Given the description of an element on the screen output the (x, y) to click on. 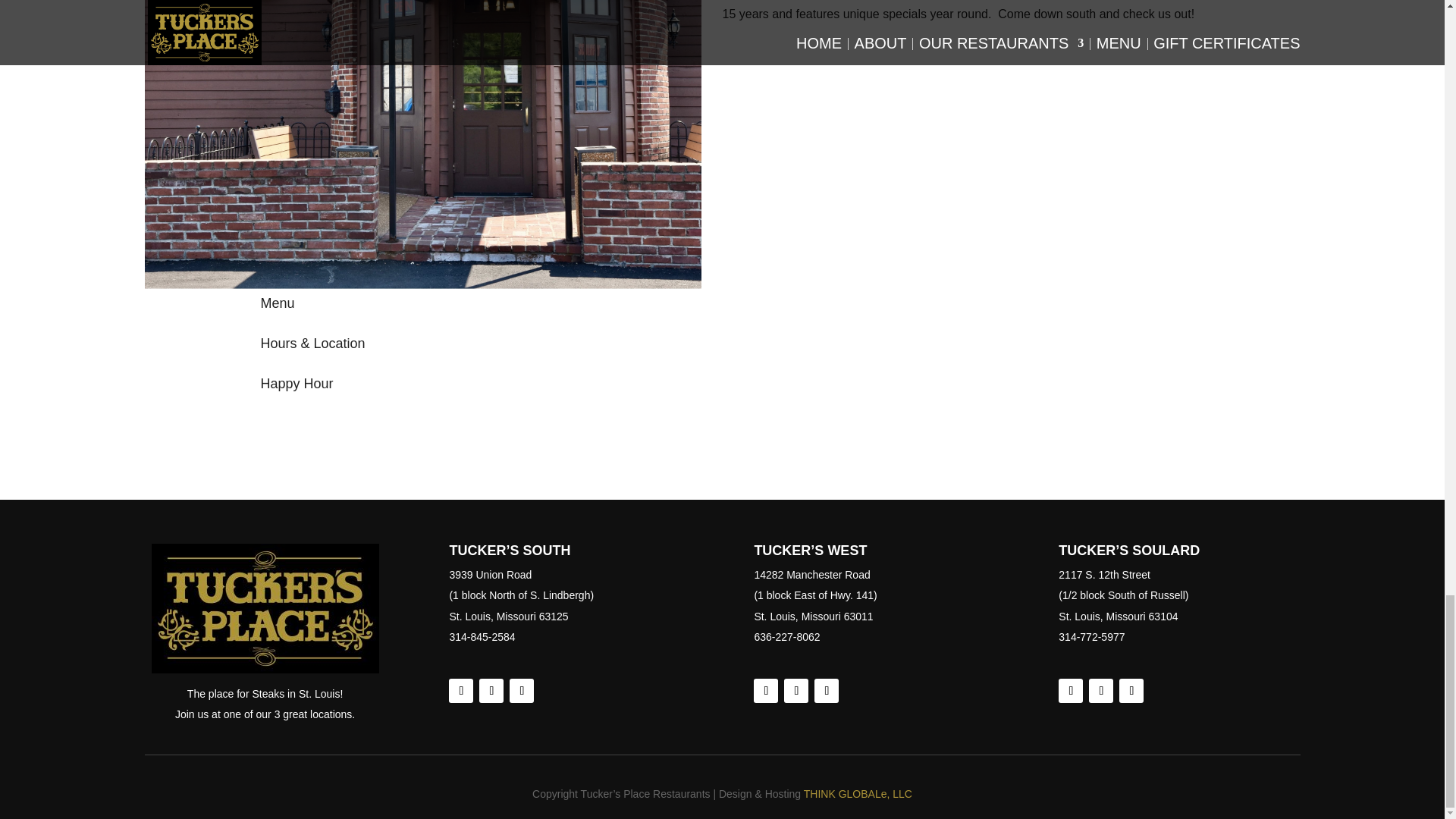
Menu (277, 303)
Happy Hour (296, 383)
